Given the description of an element on the screen output the (x, y) to click on. 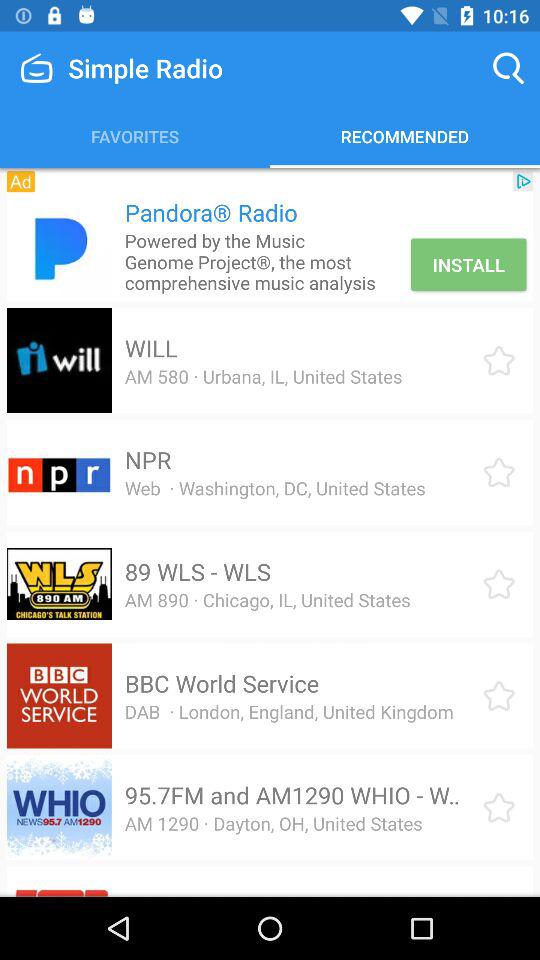
tap item above the 95 7fm and icon (288, 711)
